Given the description of an element on the screen output the (x, y) to click on. 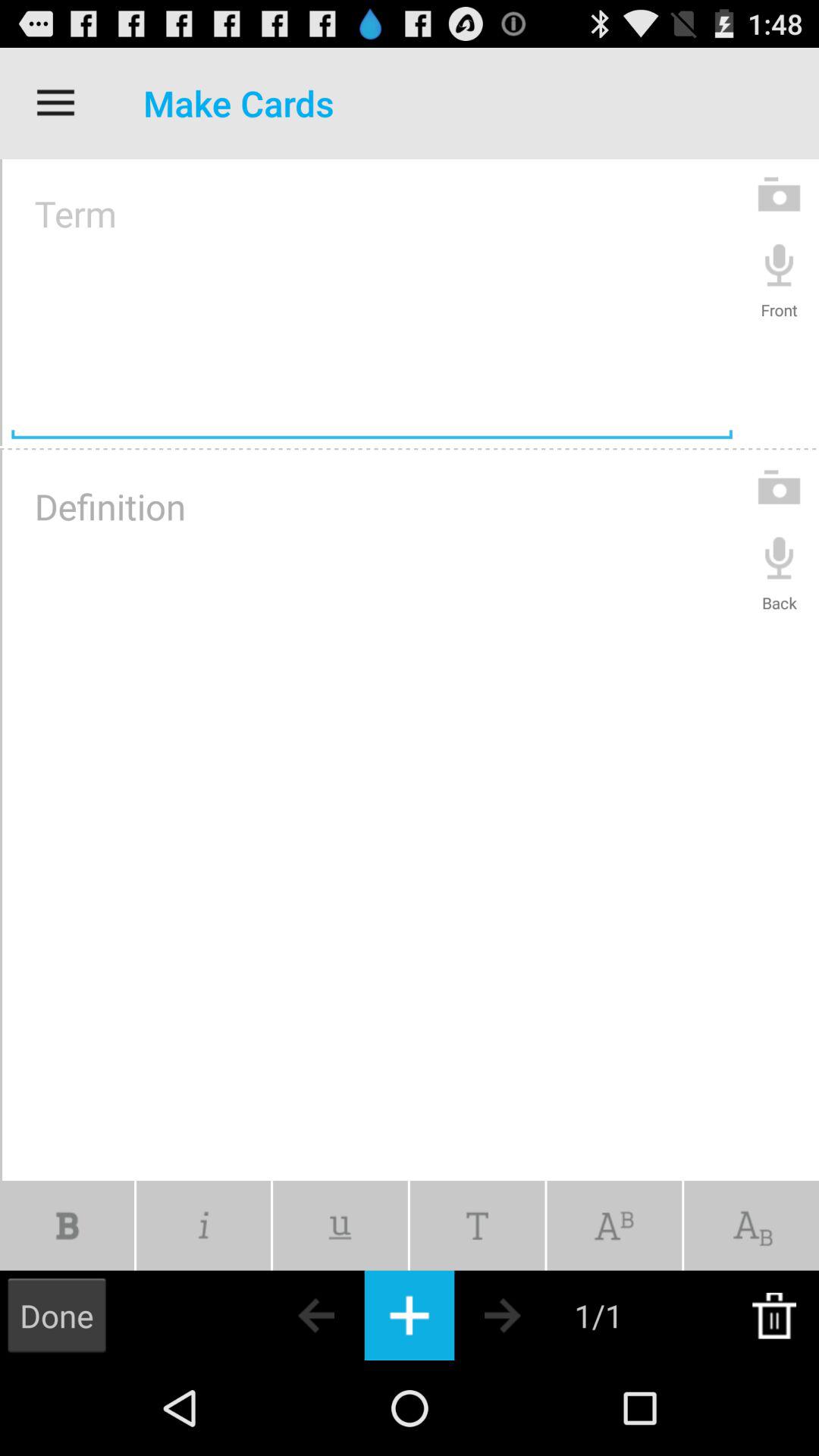
open item next to 1/1 icon (529, 1315)
